Given the description of an element on the screen output the (x, y) to click on. 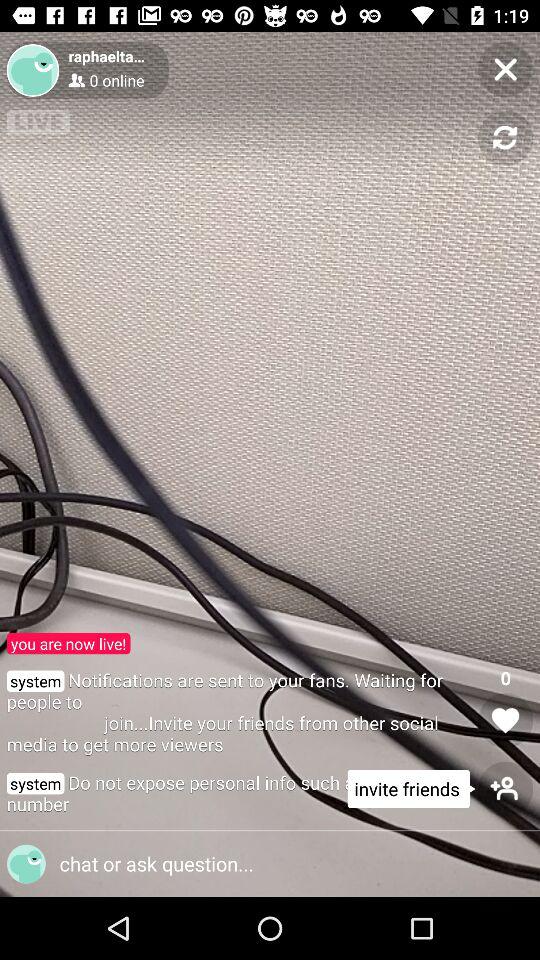
reload page (505, 137)
